Given the description of an element on the screen output the (x, y) to click on. 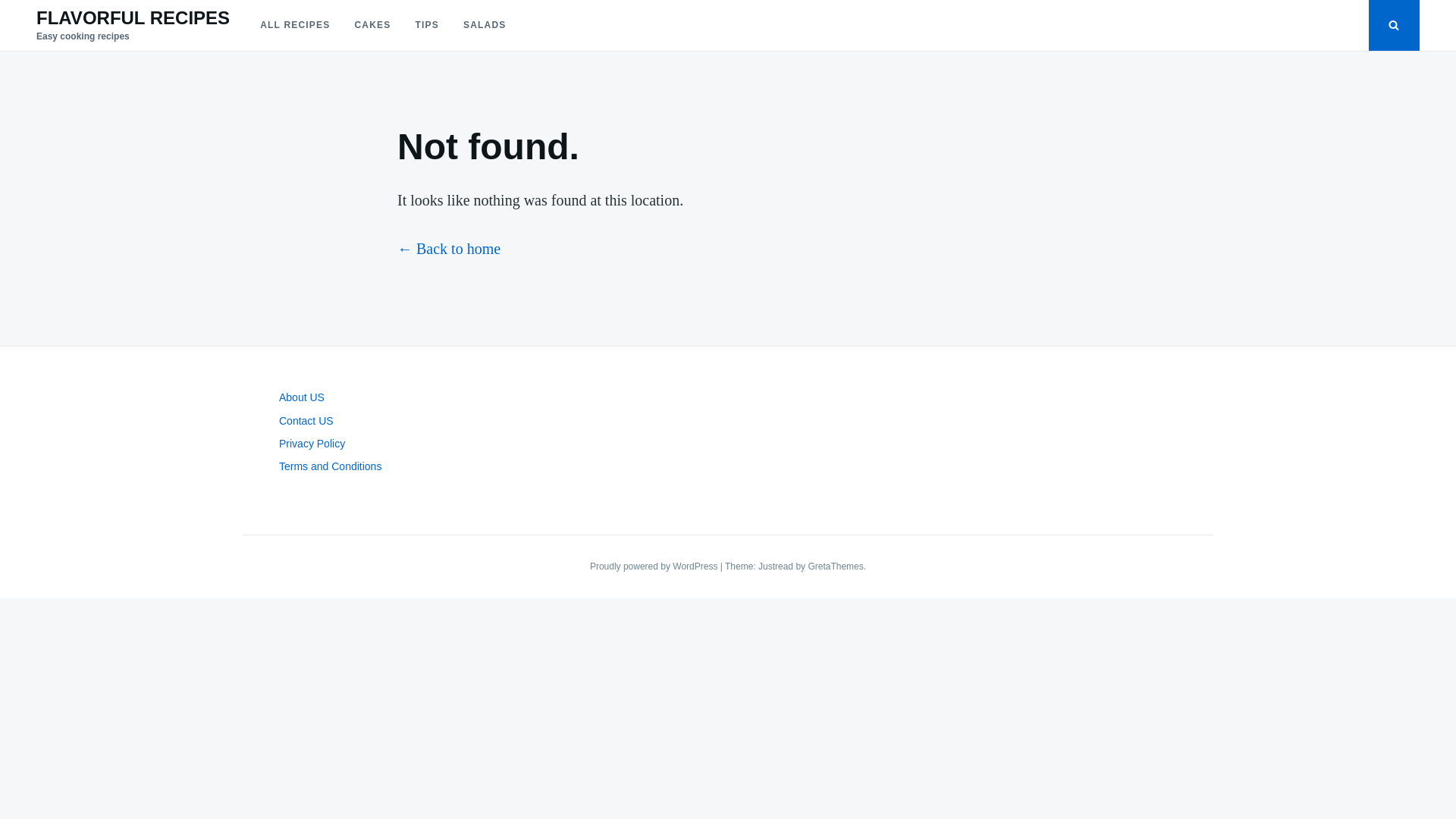
About US (301, 397)
CAKES (372, 25)
Contact US (306, 420)
ALL RECIPES (294, 25)
FLAVORFUL RECIPES (133, 17)
Proudly powered by WordPress (654, 566)
TIPS (426, 25)
Privacy Policy (312, 443)
SALADS (484, 25)
Terms and Conditions (330, 466)
